Given the description of an element on the screen output the (x, y) to click on. 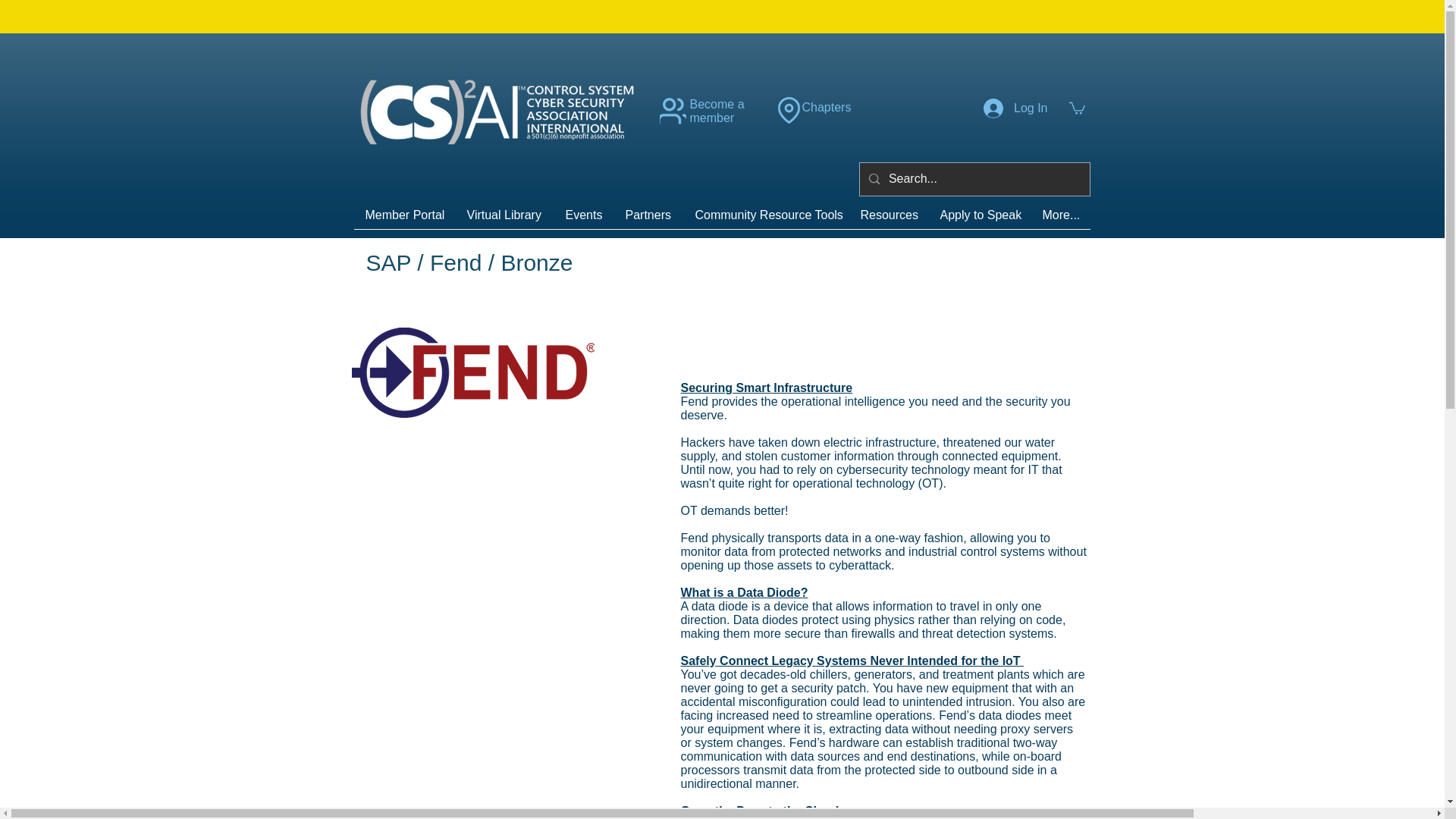
Become a member (717, 110)
Apply to Speak (979, 219)
Chapters (826, 106)
Fend (473, 372)
Log In (1015, 108)
